Given the description of an element on the screen output the (x, y) to click on. 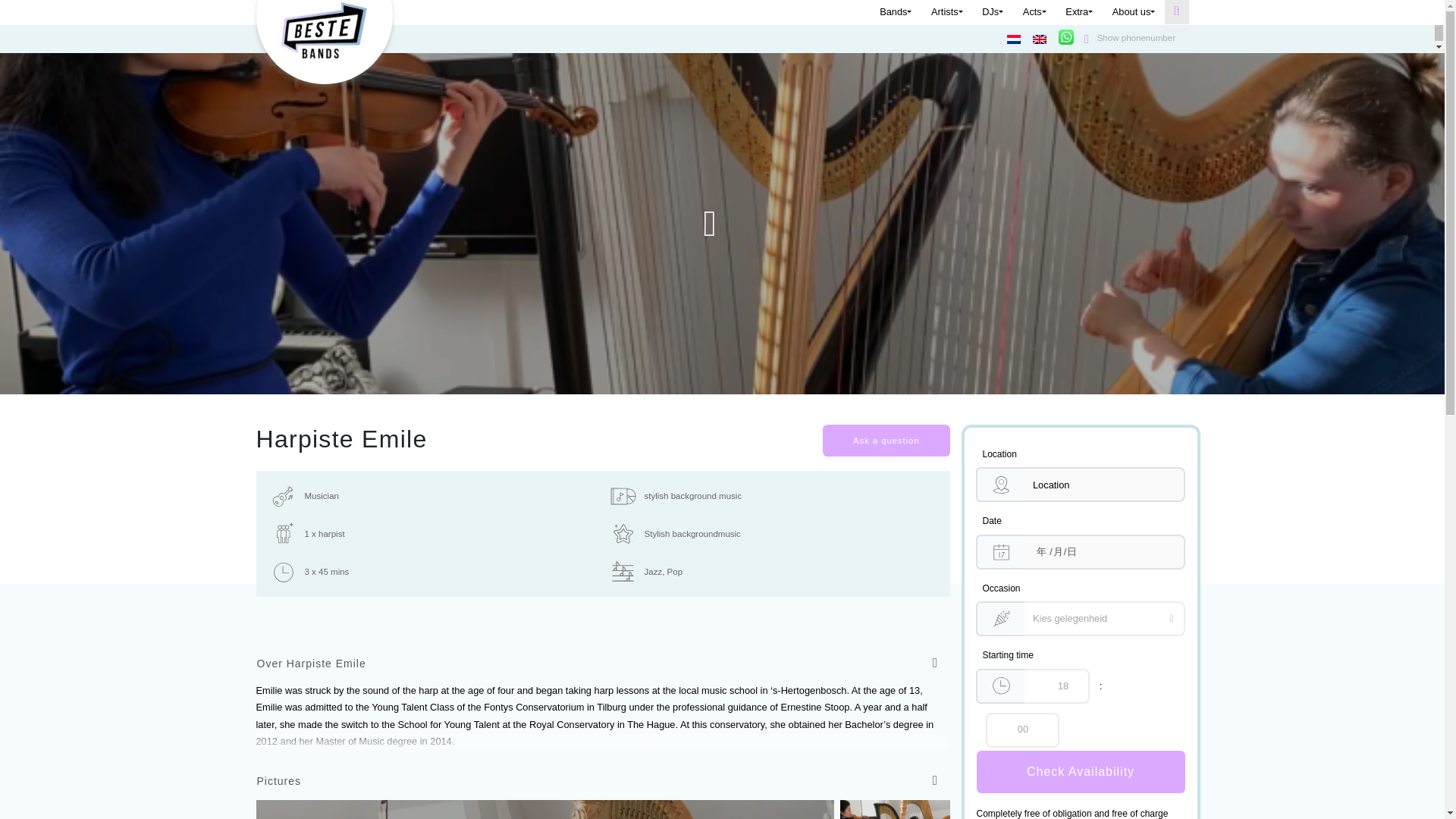
Show phonenumber (1126, 38)
About us (1131, 11)
Artists (944, 11)
DJs (989, 11)
Extra (1076, 11)
Bands (893, 11)
home (324, 29)
Acts (1032, 11)
Opens a widget where you can chat to one of our agents (1346, 792)
